Given the description of an element on the screen output the (x, y) to click on. 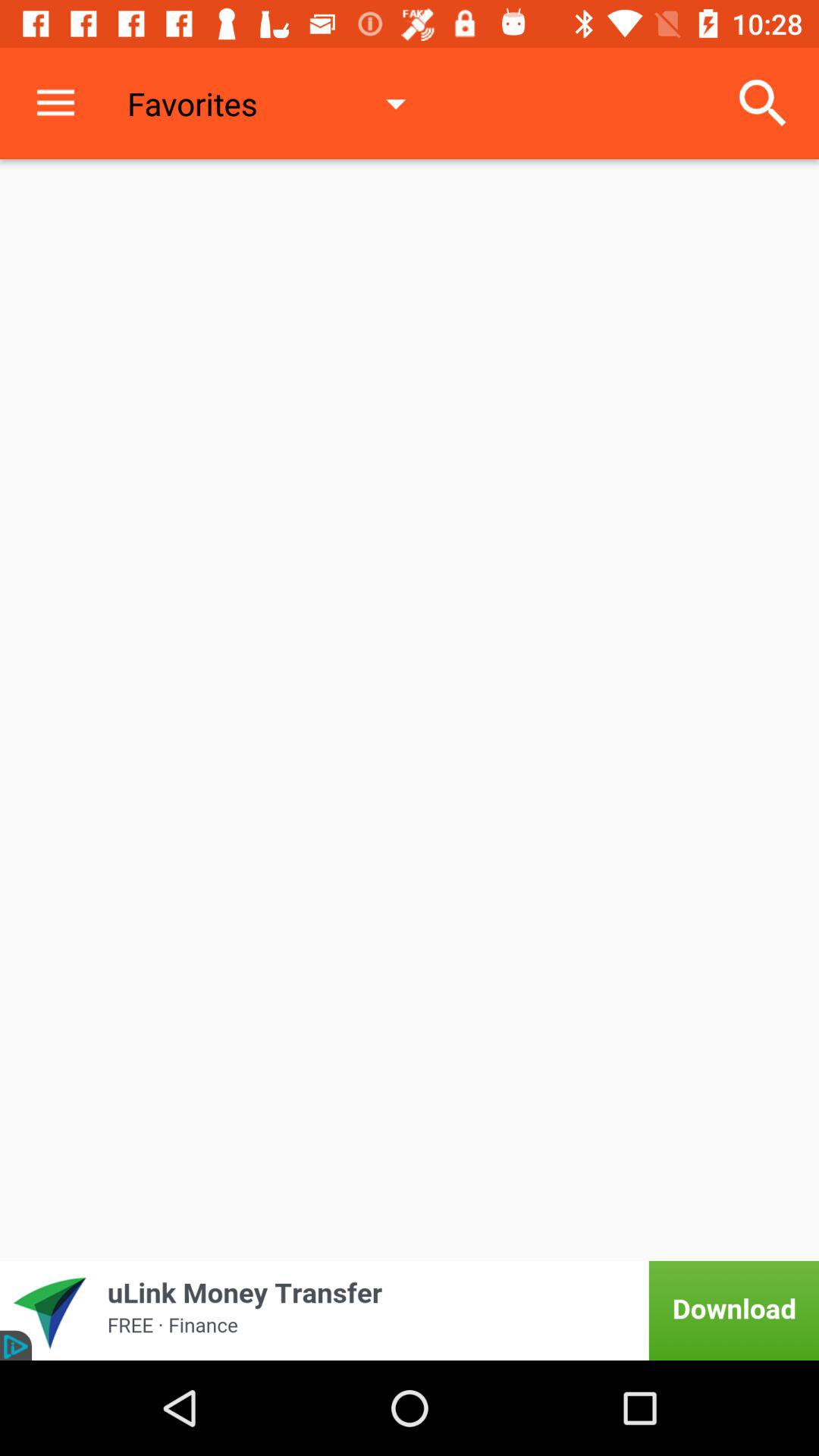
click advertisement (409, 1310)
